Given the description of an element on the screen output the (x, y) to click on. 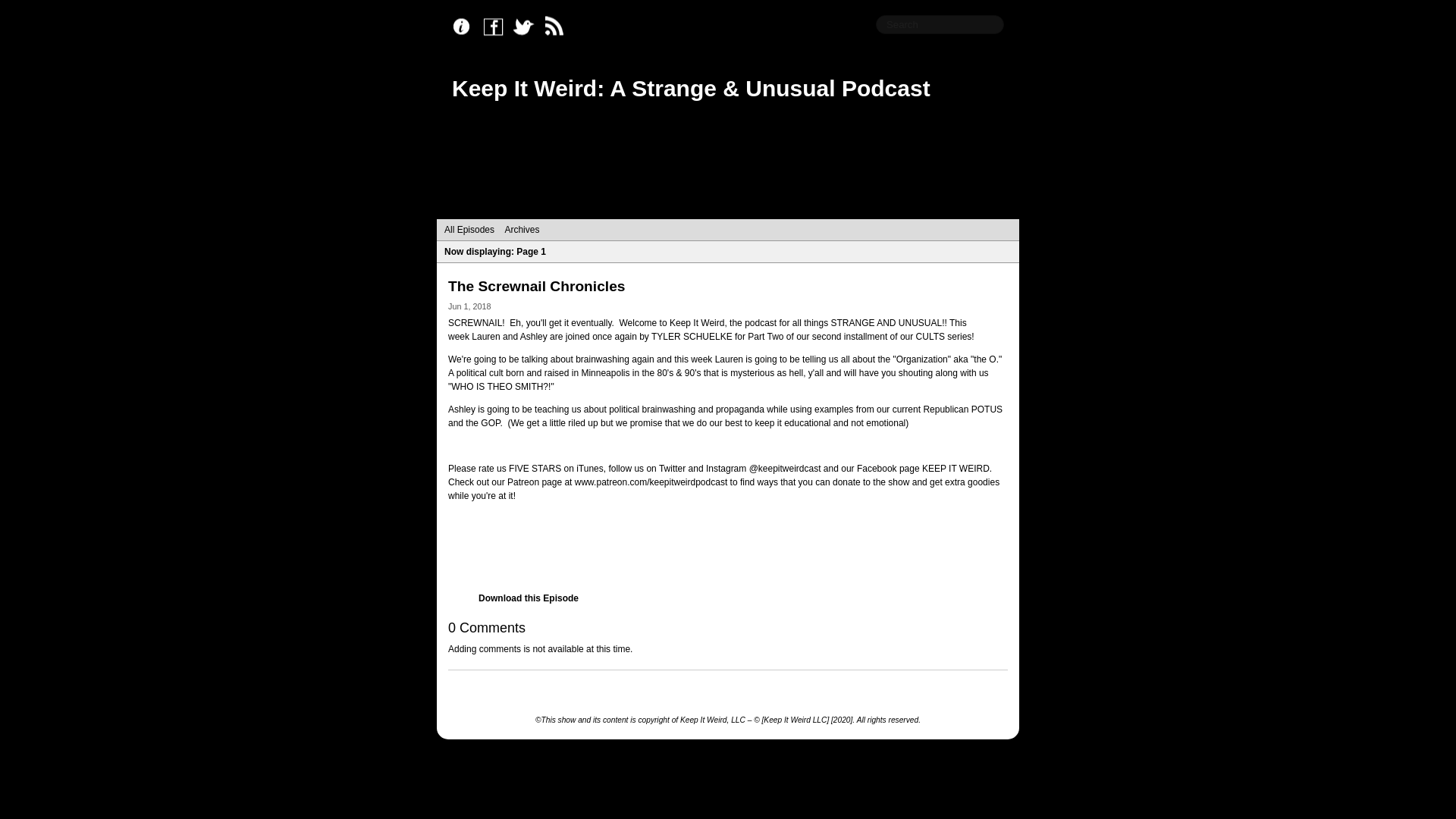
Twitter (527, 26)
Facebook (496, 26)
RSS Feed (558, 26)
Libsyn Player (727, 545)
